Given the description of an element on the screen output the (x, y) to click on. 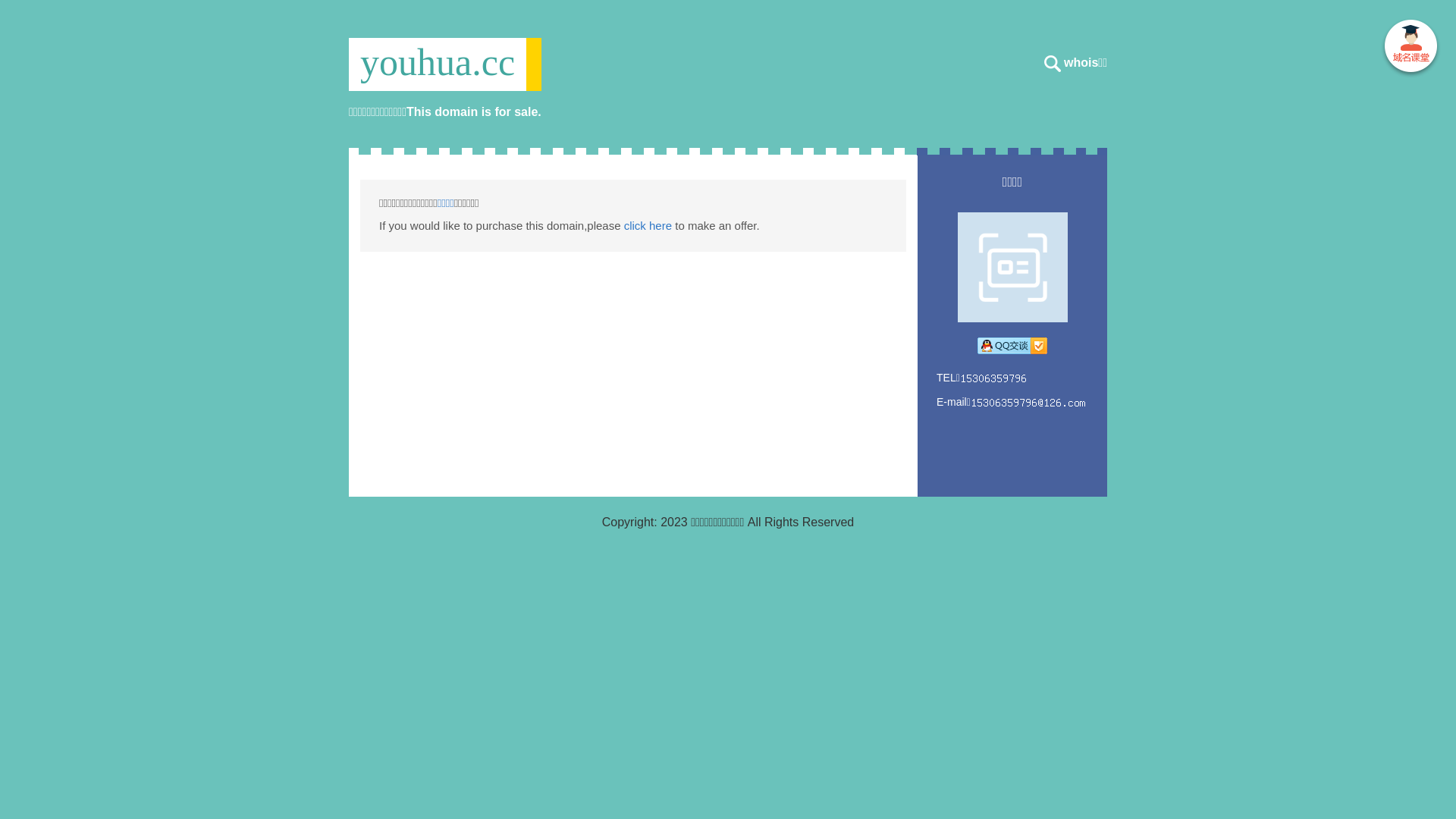
click here Element type: text (647, 225)
  Element type: text (1410, 48)
